Given the description of an element on the screen output the (x, y) to click on. 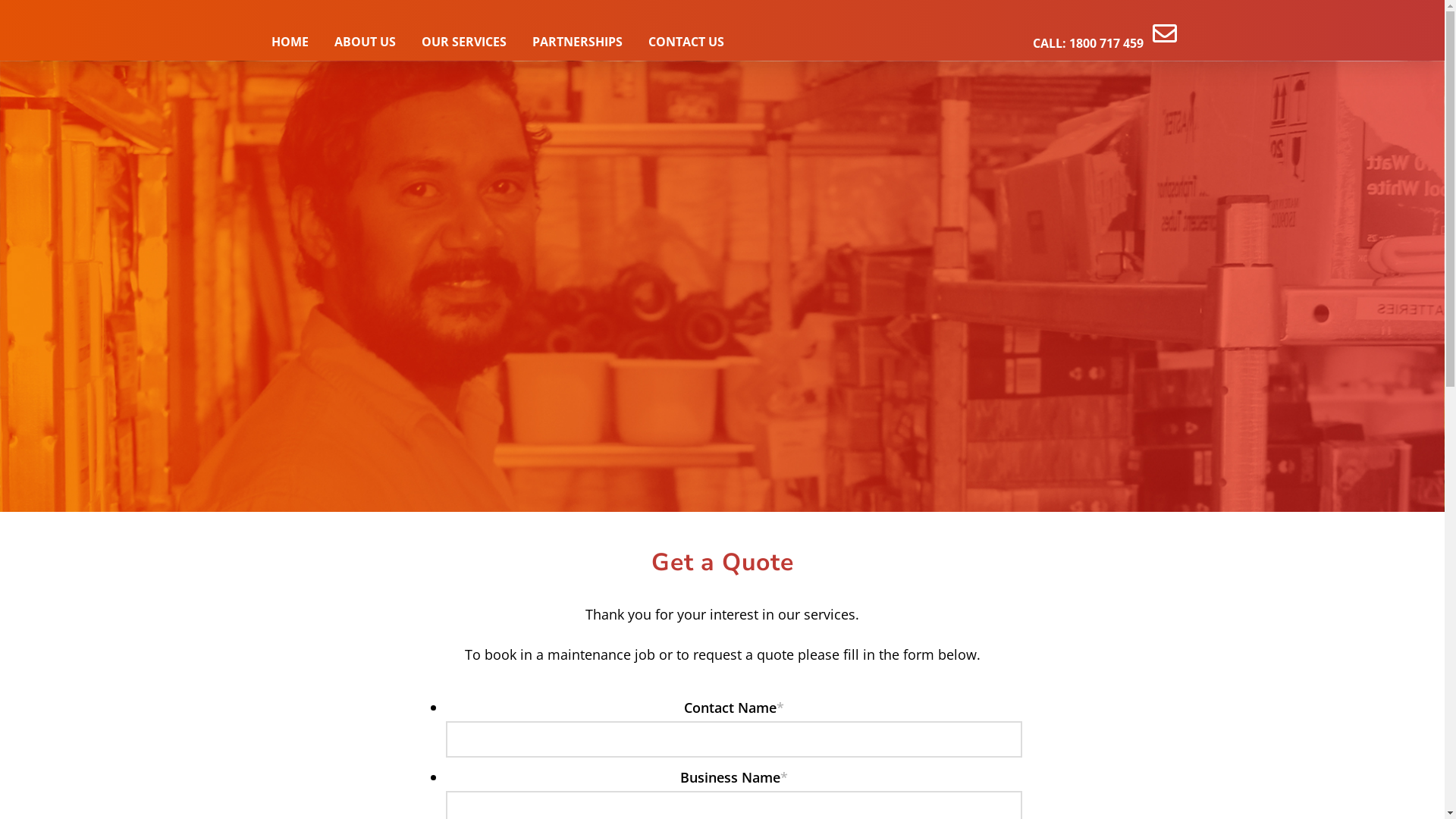
CONTACT US Element type: text (686, 41)
PARTNERSHIPS Element type: text (576, 41)
ABOUT US Element type: text (364, 41)
OUR SERVICES Element type: text (462, 41)
1800 717 459 Element type: text (1106, 42)
HOME Element type: text (288, 41)
